Given the description of an element on the screen output the (x, y) to click on. 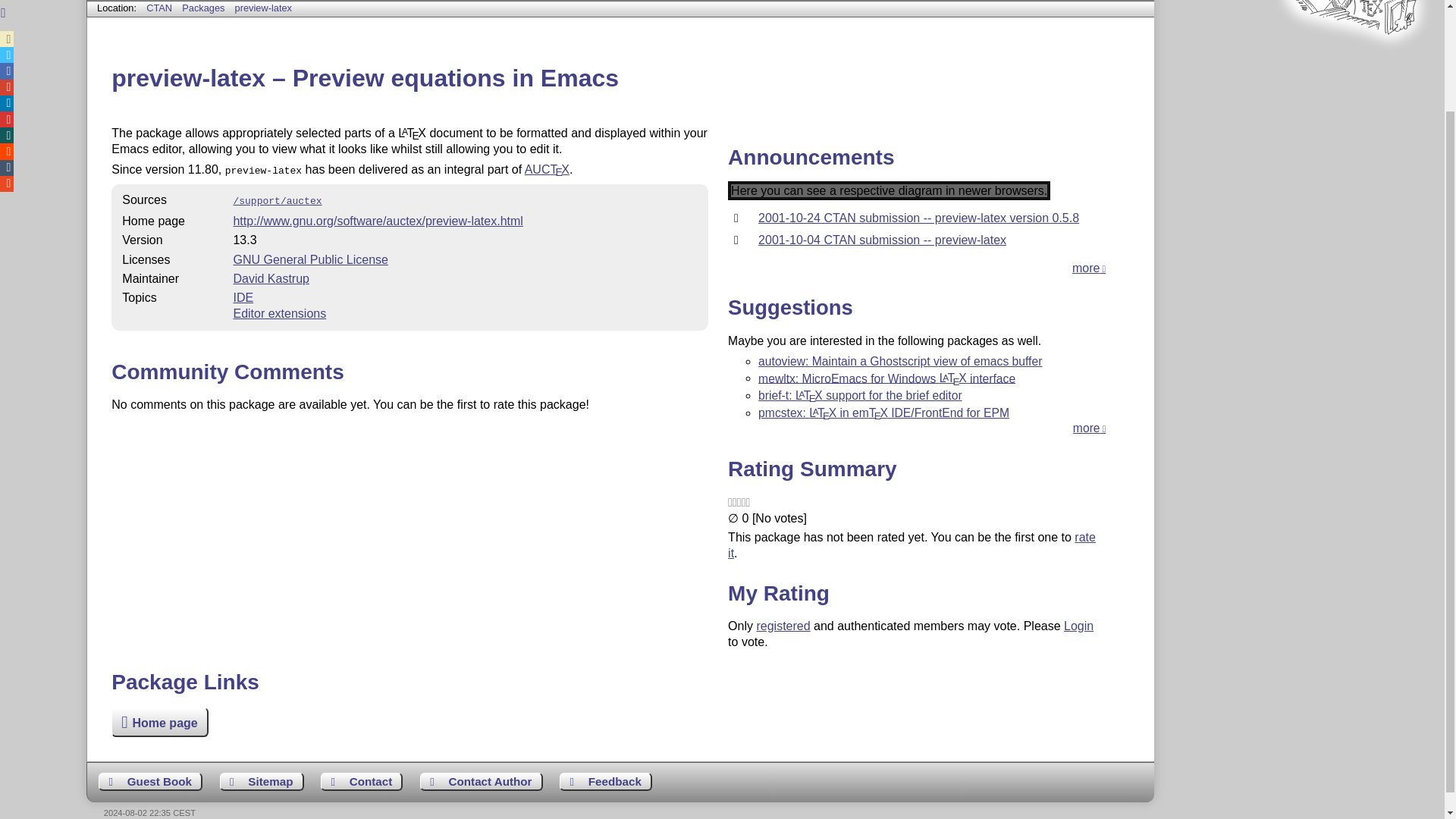
Editor extensions (279, 313)
CTAN (159, 7)
2001-10-24 CTAN submission -- preview-latex version 0.5.8 (918, 217)
GNU General Public License (310, 259)
CTAN lion drawing by Duane Bibby (1353, 62)
Get help on how to contact an author (481, 782)
IDE (242, 297)
Show the structure of this site (261, 782)
Send feedback on the current web page to the Web masters (605, 782)
Spectrum indicating the announcements for the package (888, 189)
AUCTEX (546, 169)
Leave some words for other visitors (150, 782)
David Kastrup (270, 278)
preview-latex (263, 7)
Packages (204, 7)
